Given the description of an element on the screen output the (x, y) to click on. 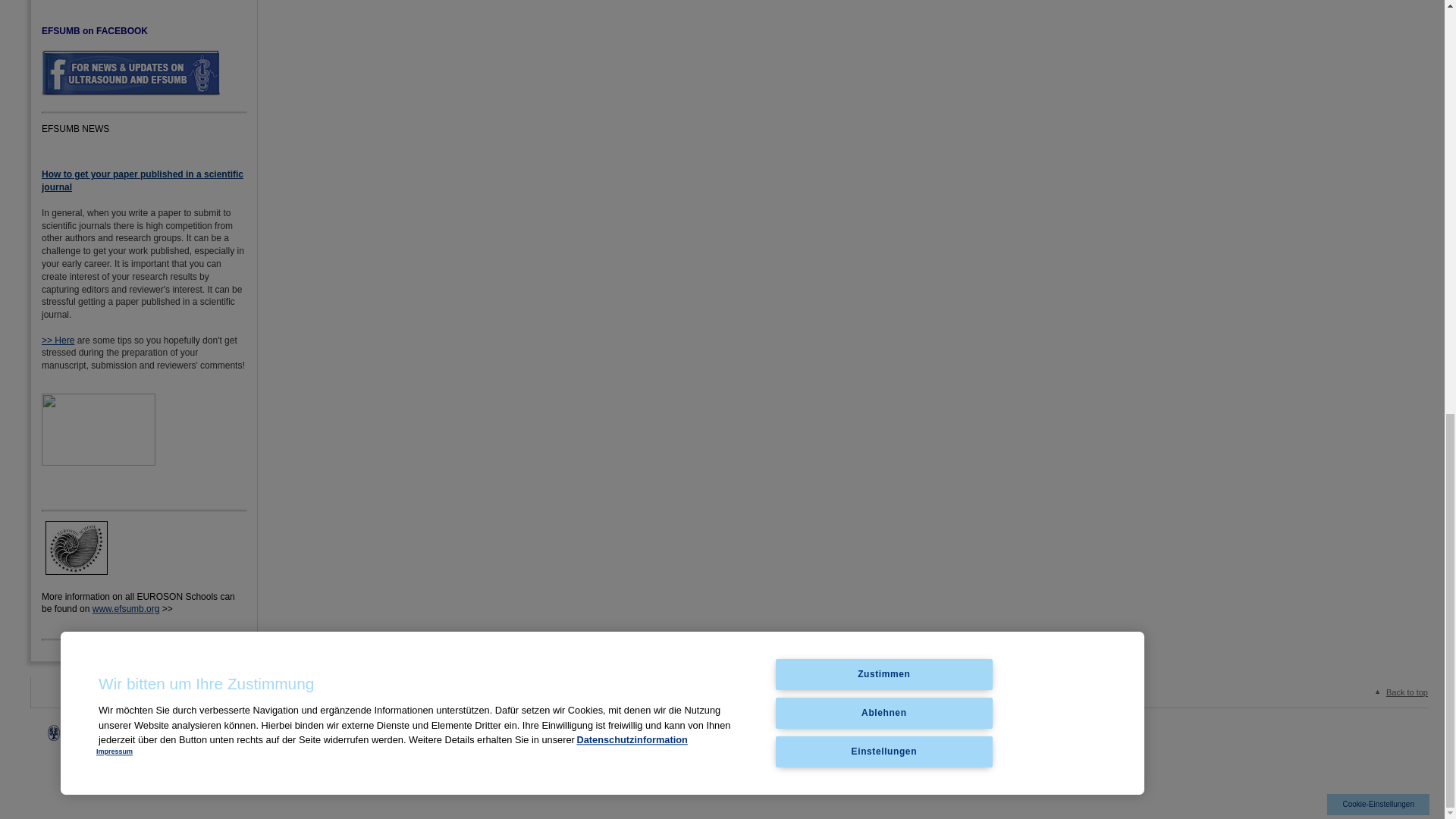
How to get your paper published in a scientific journal (142, 180)
Back to top (1399, 691)
Georg Thieme Verlag KG (389, 730)
www.efsumb.org (126, 608)
